Given the description of an element on the screen output the (x, y) to click on. 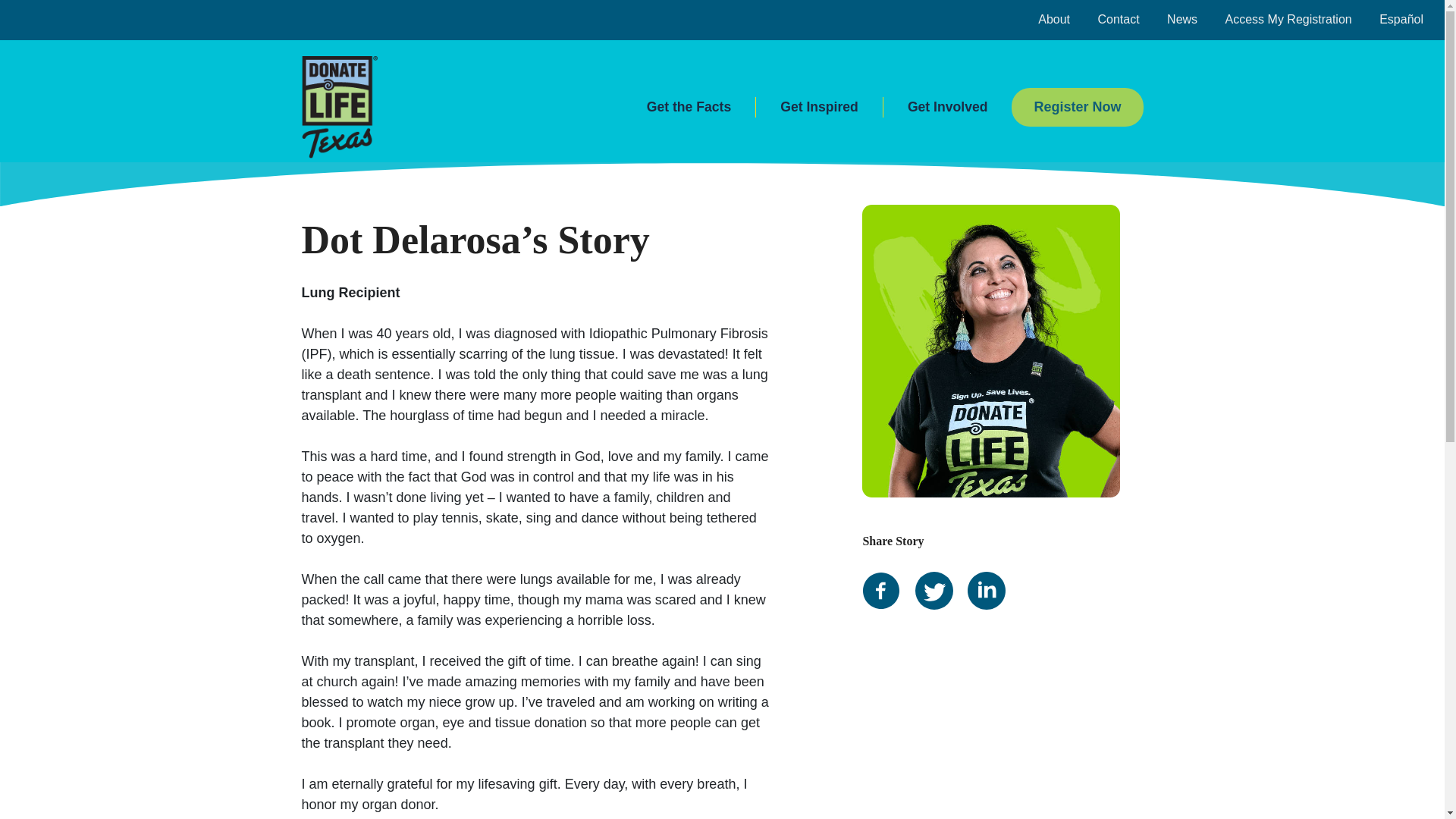
Get Inspired (819, 107)
Get Involved (947, 107)
News (1181, 19)
Get Inspired (819, 107)
Contact (1117, 19)
Share on Twitter (939, 568)
Get the Facts (688, 107)
Share on Linkedin (992, 568)
Get Involved (947, 107)
Share on Facebook (886, 568)
Get the Facts (688, 107)
Register Now (1076, 106)
Access My Registration (1288, 19)
Register Now (1076, 106)
About (1054, 19)
